Given the description of an element on the screen output the (x, y) to click on. 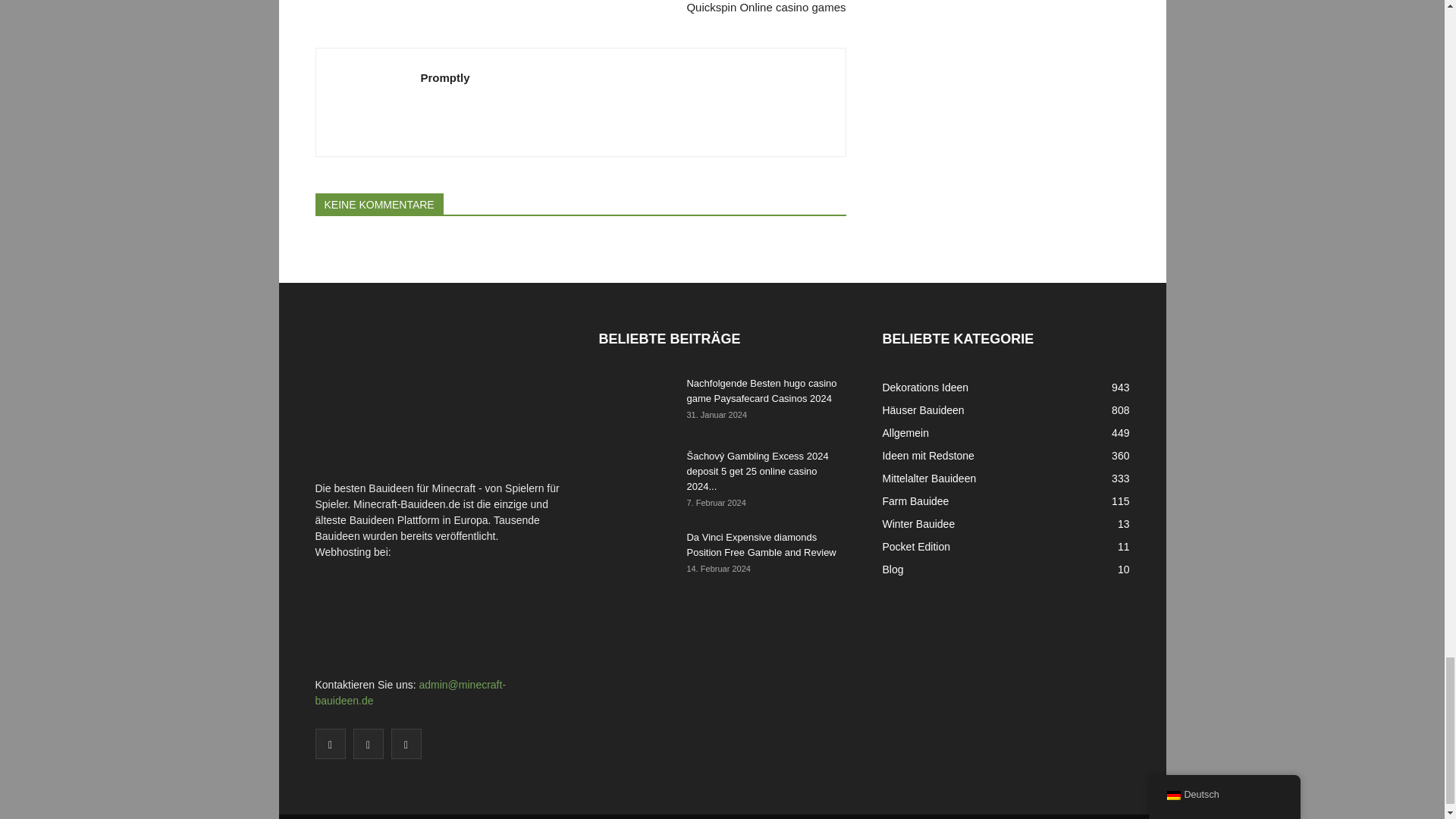
Twitter (368, 743)
Youtube (406, 743)
Facebook (330, 743)
Minecraft-Bauideen.de Logo (429, 397)
